Given the description of an element on the screen output the (x, y) to click on. 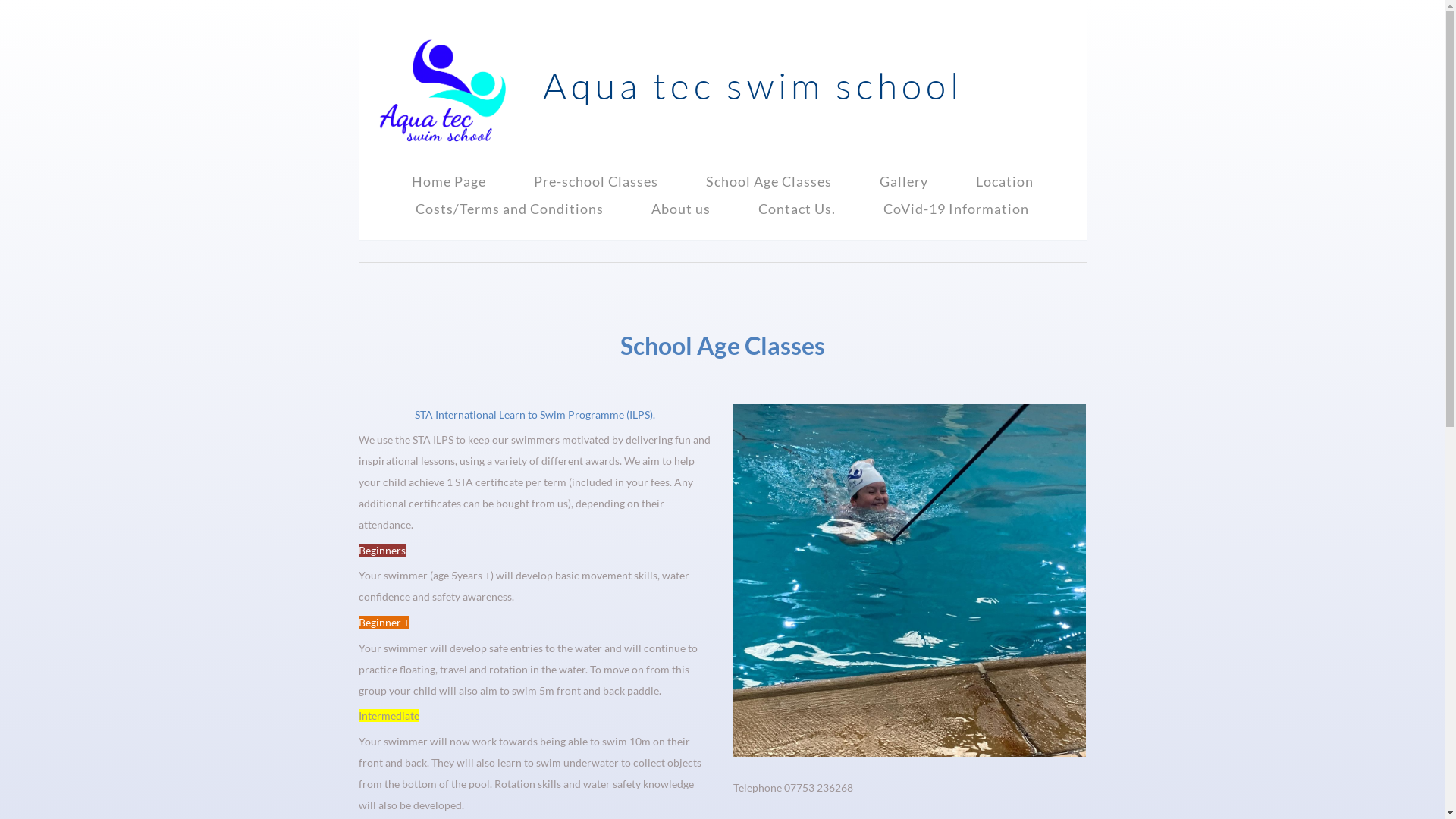
Contact Us. (797, 207)
Telephone 07753 236268 (793, 787)
Location (1003, 180)
About us (680, 207)
Pre-school Classes (596, 180)
School Age Classes (767, 180)
CoVid-19 Information (955, 207)
Gallery (903, 180)
Home Page (448, 180)
Aqua tec swim school (752, 85)
